Given the description of an element on the screen output the (x, y) to click on. 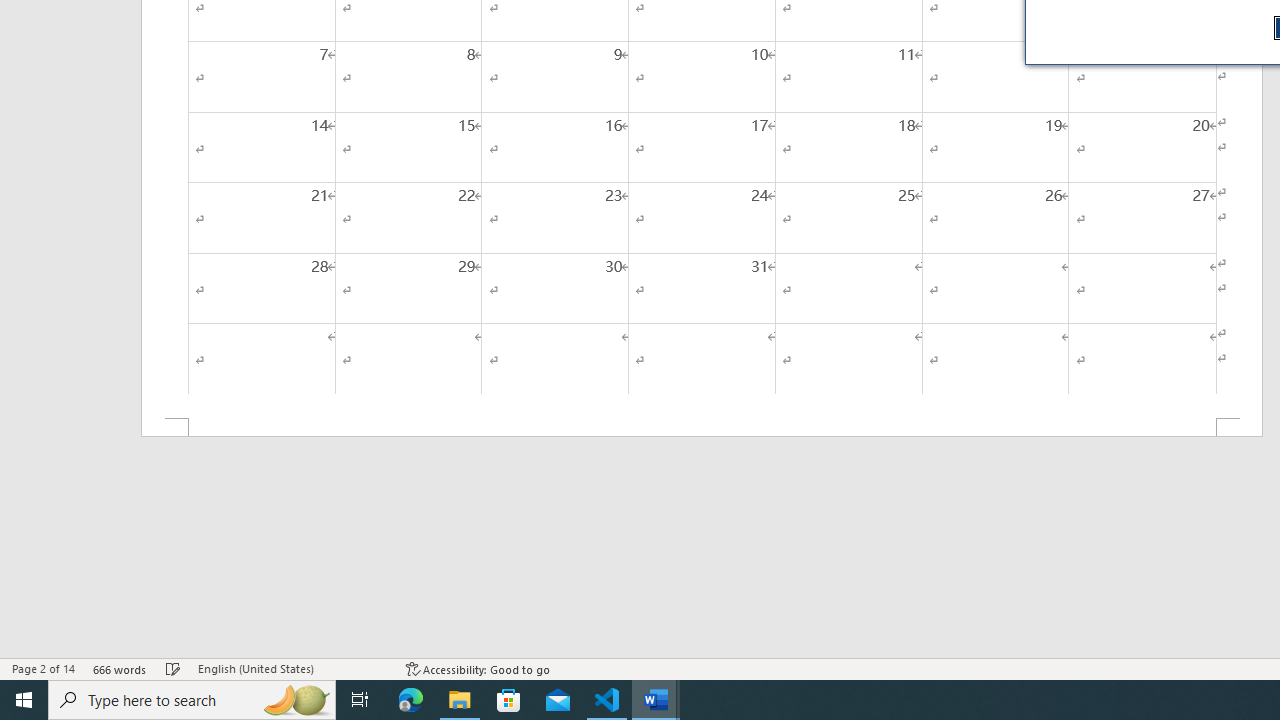
File Explorer - 1 running window (460, 699)
